Given the description of an element on the screen output the (x, y) to click on. 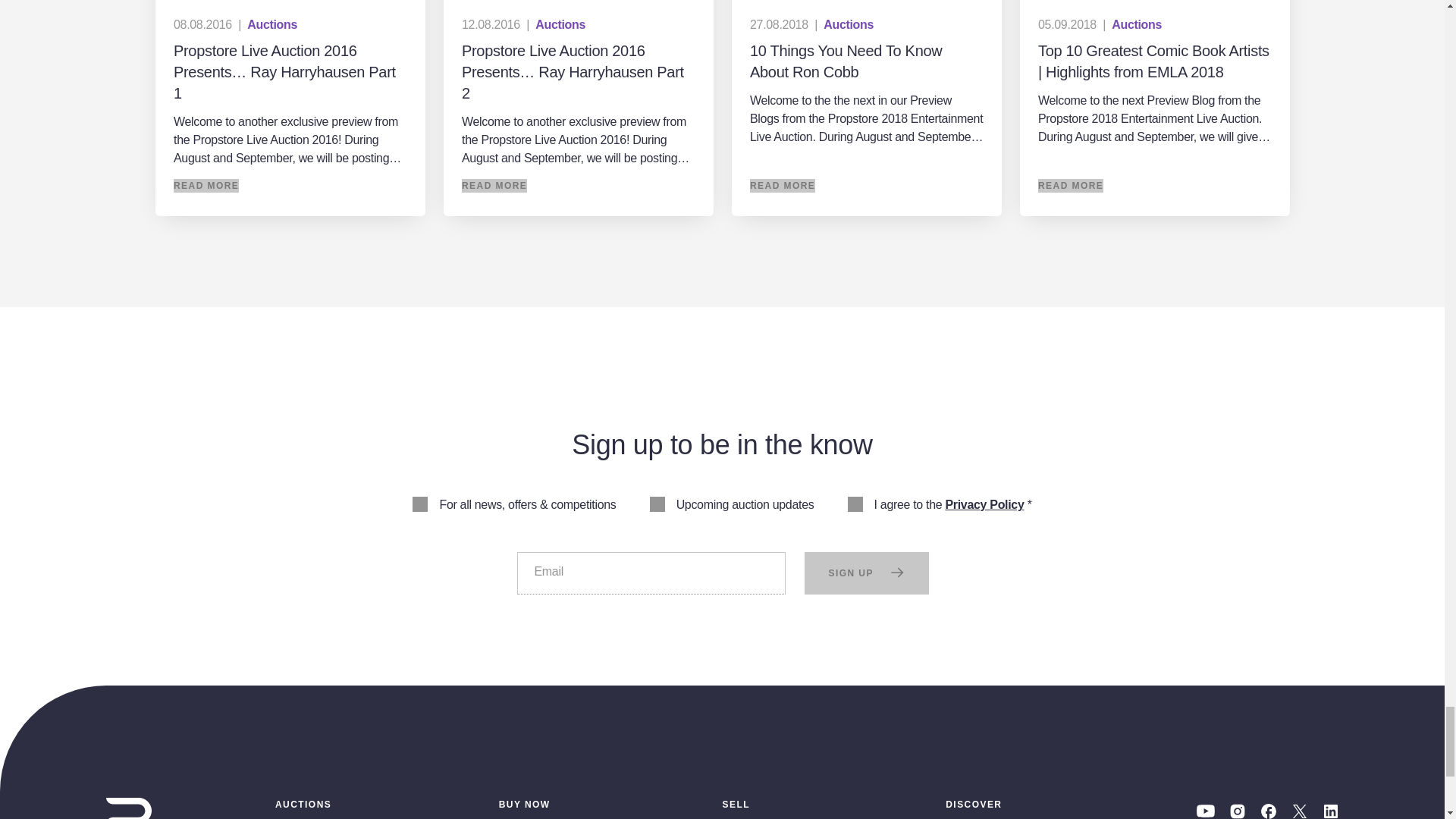
AuctionsAuctions (560, 24)
10 Things You Need To Know About Ron Cobb (865, 108)
AuctionsAuctionsAuctionsAuctions (1136, 24)
AuctionsAuctionsAuctions (848, 24)
Auctions (272, 24)
